Given the description of an element on the screen output the (x, y) to click on. 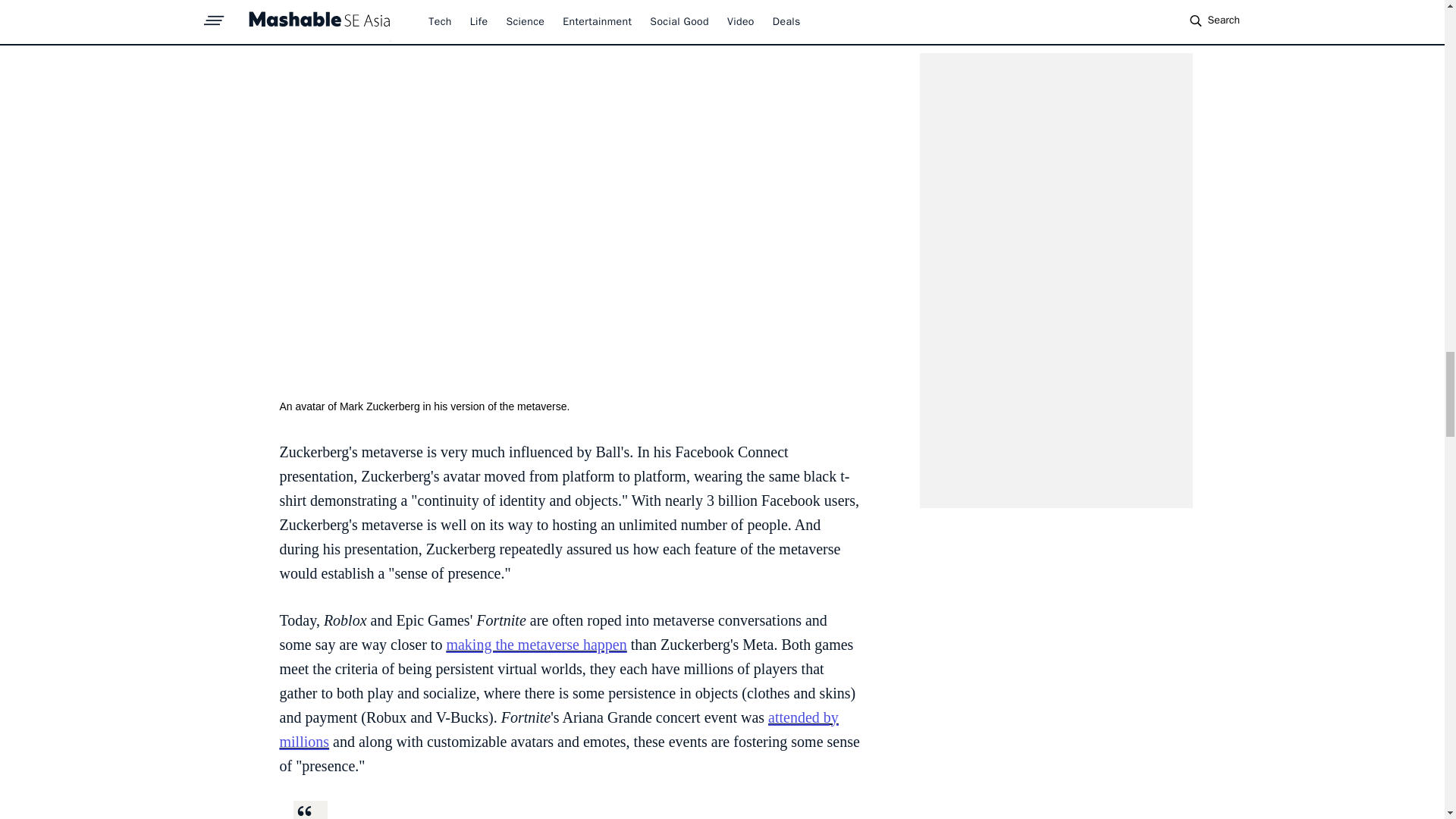
attended by millions (558, 729)
making the metaverse happen (535, 644)
